Given the description of an element on the screen output the (x, y) to click on. 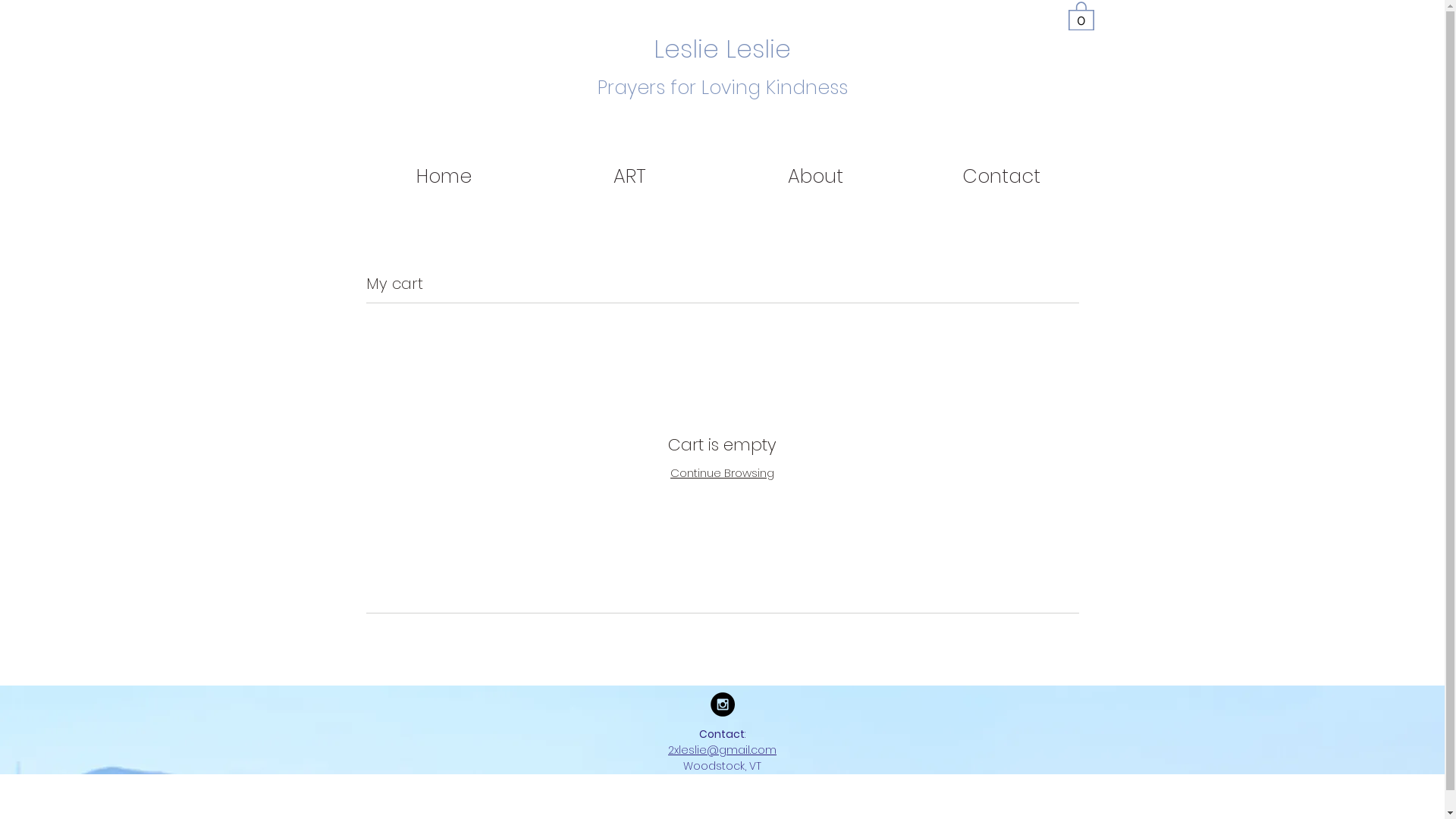
Contact Element type: text (1001, 176)
Home Element type: text (443, 176)
0 Element type: text (1080, 15)
Continue Browsing Element type: text (722, 472)
About Element type: text (814, 176)
2xleslie@gmail.com Element type: text (722, 749)
